Given the description of an element on the screen output the (x, y) to click on. 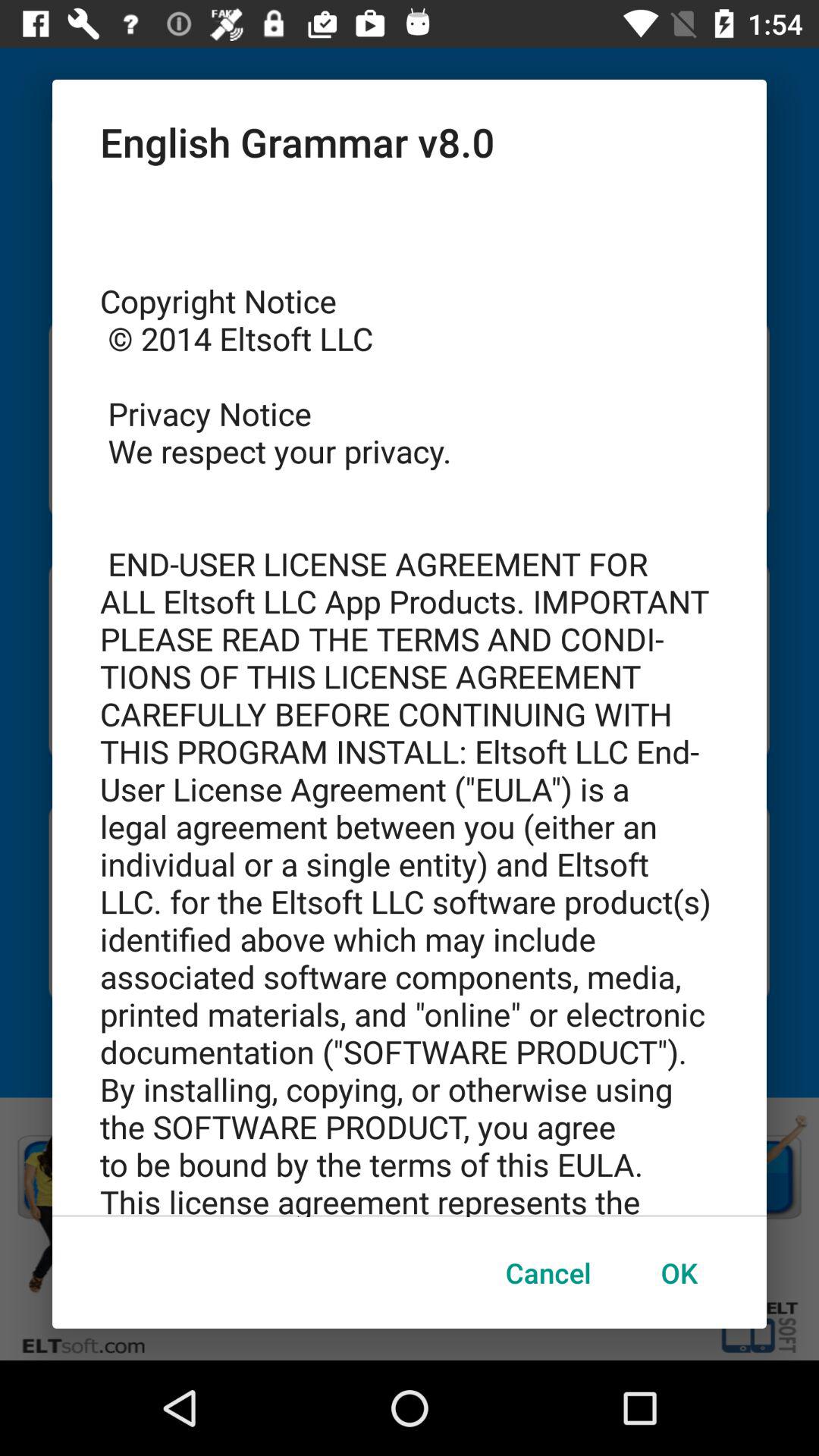
select button next to the cancel button (678, 1272)
